Given the description of an element on the screen output the (x, y) to click on. 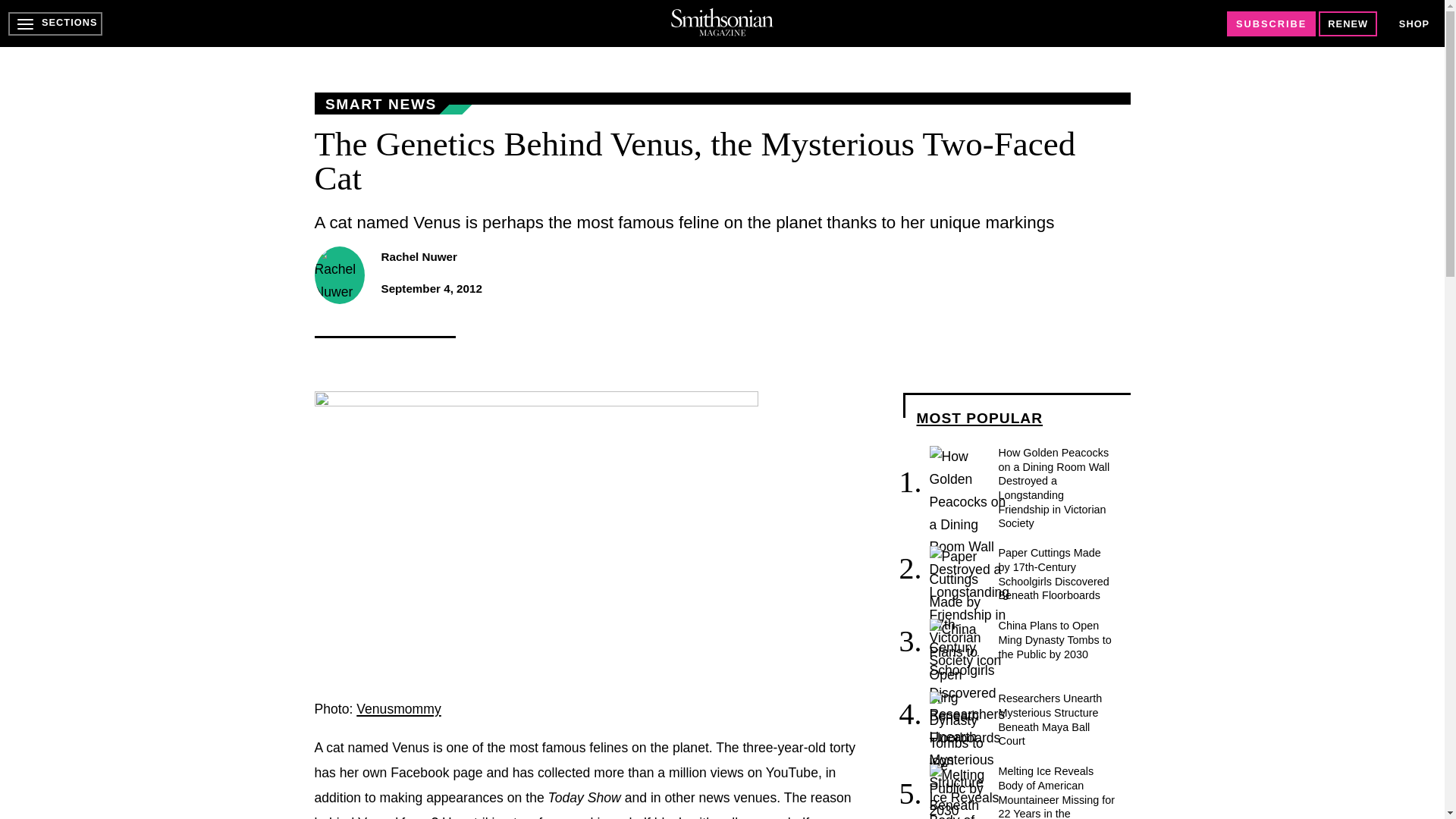
SHOP (1414, 23)
RENEW (1347, 23)
SECTIONS (55, 23)
RENEW (1348, 23)
SUBSCRIBE (1271, 23)
SUBSCRIBE (1271, 23)
SHOP (1413, 23)
venus (535, 537)
